Given the description of an element on the screen output the (x, y) to click on. 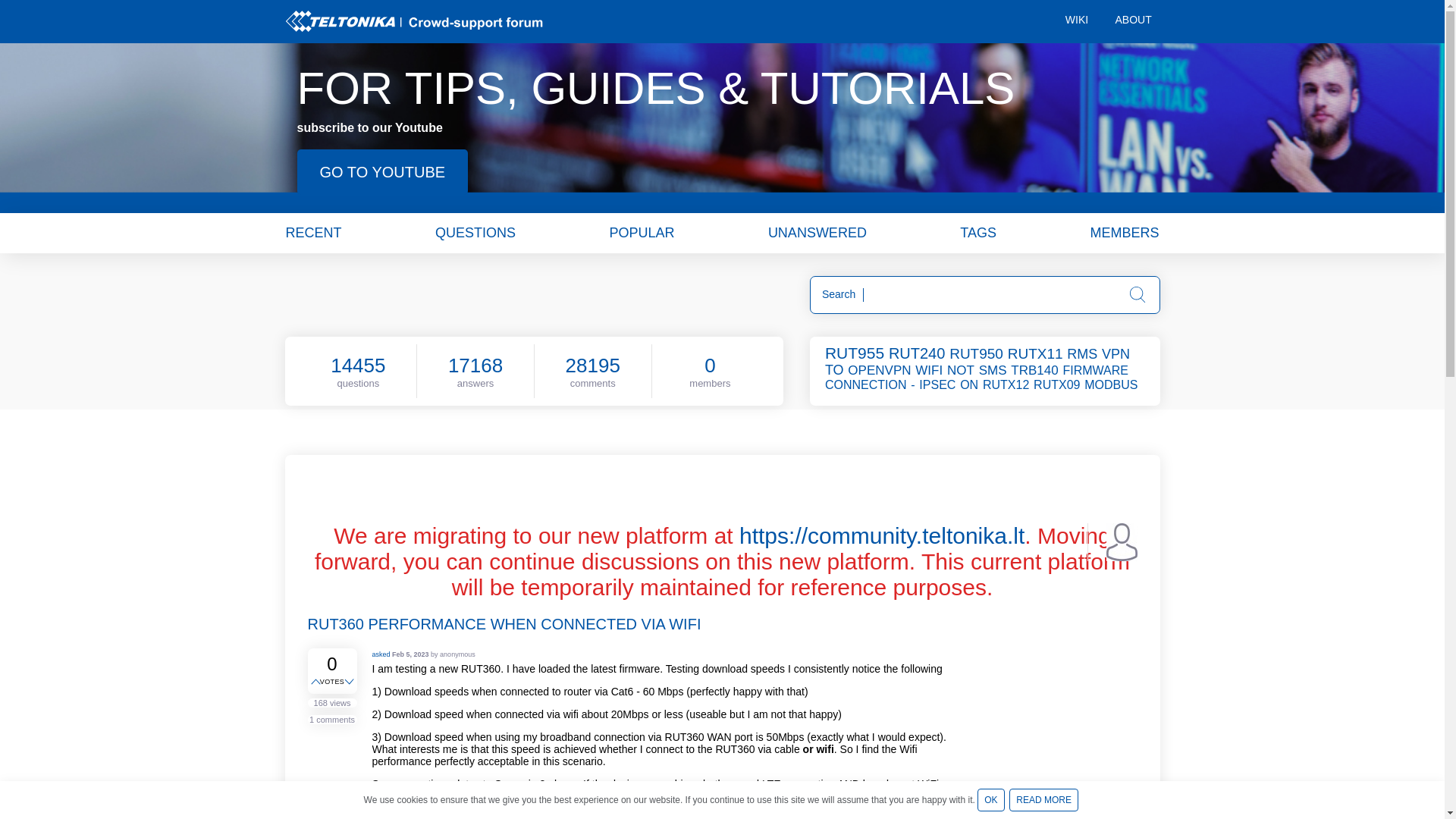
POPULAR (641, 232)
MEMBERS (1123, 232)
OPENVPN (879, 370)
RMS (1083, 353)
RUTX11 (1036, 353)
QUESTIONS (475, 232)
VPN (1117, 353)
NOT (961, 370)
IPSEC (938, 384)
asked (380, 654)
